Given the description of an element on the screen output the (x, y) to click on. 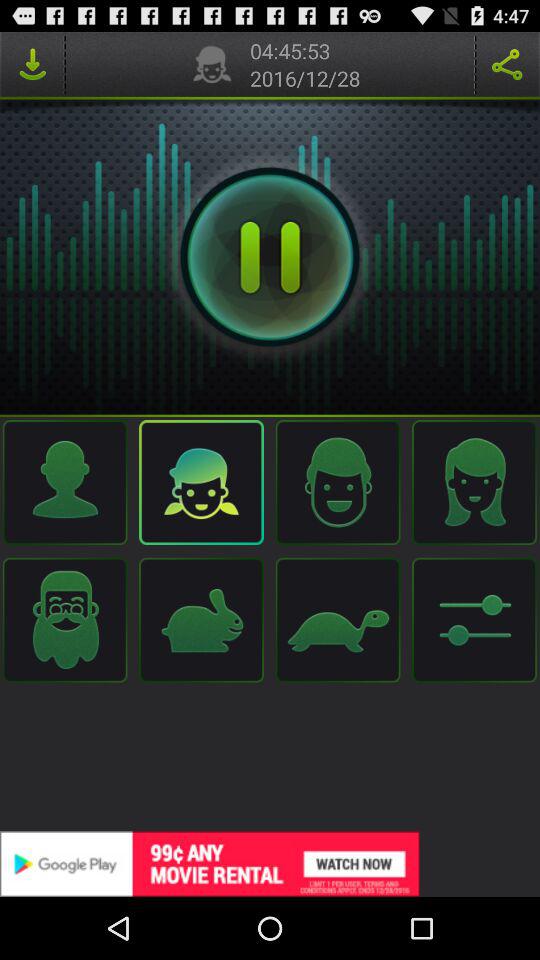
select it (507, 64)
